Given the description of an element on the screen output the (x, y) to click on. 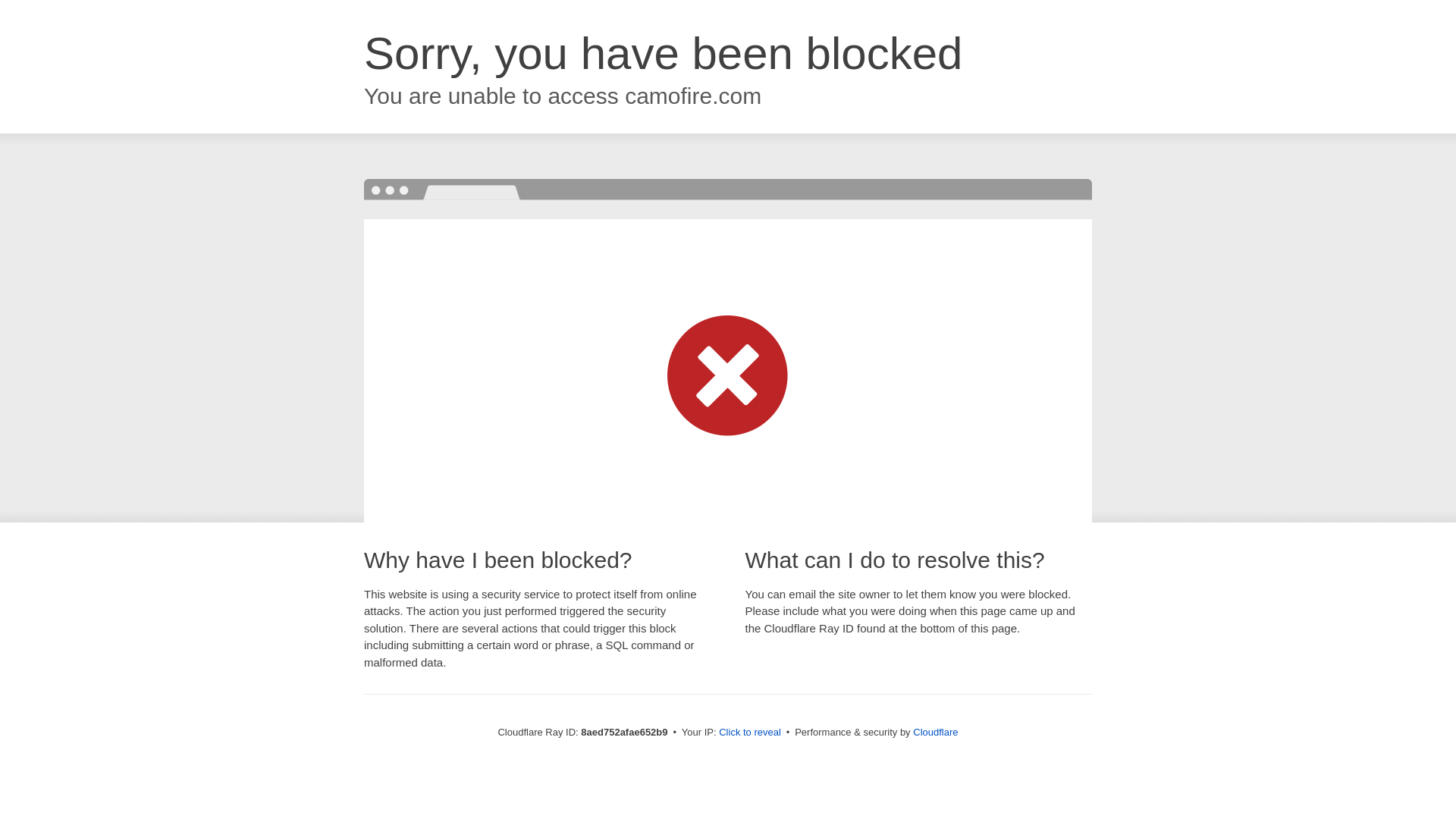
Click to reveal (749, 732)
Cloudflare (935, 731)
